Given the description of an element on the screen output the (x, y) to click on. 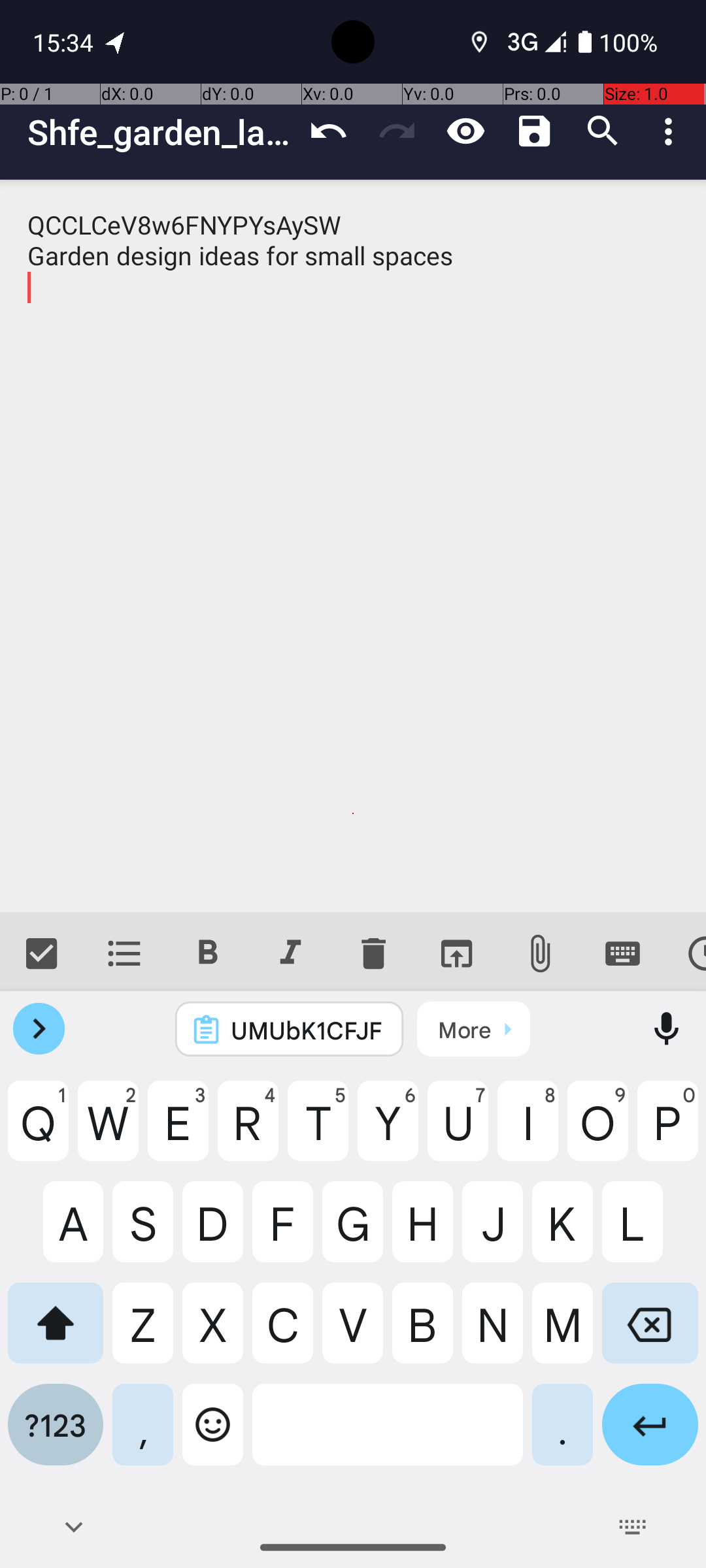
Shfe_garden_layout_plan Element type: android.widget.TextView (160, 131)
QCCLCeV8w6FNYPYsAySW
Garden design ideas for small spaces
 Element type: android.widget.EditText (353, 545)
Q Element type: android.widget.FrameLayout (38, 1130)
E Element type: android.widget.FrameLayout (178, 1130)
R Element type: android.widget.FrameLayout (248, 1130)
Y Element type: android.widget.FrameLayout (387, 1130)
U Element type: android.widget.FrameLayout (457, 1130)
I Element type: android.widget.FrameLayout (527, 1130)
O Element type: android.widget.FrameLayout (597, 1130)
P Element type: android.widget.FrameLayout (667, 1130)
A Element type: android.widget.FrameLayout (55, 1231)
D Element type: android.widget.FrameLayout (212, 1231)
G Element type: android.widget.FrameLayout (352, 1231)
H Element type: android.widget.FrameLayout (422, 1231)
J Element type: android.widget.FrameLayout (492, 1231)
K Element type: android.widget.FrameLayout (562, 1231)
L Element type: android.widget.FrameLayout (649, 1231)
Z Element type: android.widget.FrameLayout (142, 1332)
X Element type: android.widget.FrameLayout (212, 1332)
C Element type: android.widget.FrameLayout (282, 1332)
V Element type: android.widget.FrameLayout (352, 1332)
B Element type: android.widget.FrameLayout (422, 1332)
N Element type: android.widget.FrameLayout (492, 1332)
Click to open Clipboard Element type: android.view.ViewGroup (473, 1028)
UMUbK1CFJF Element type: android.widget.TextView (306, 1029)
